Given the description of an element on the screen output the (x, y) to click on. 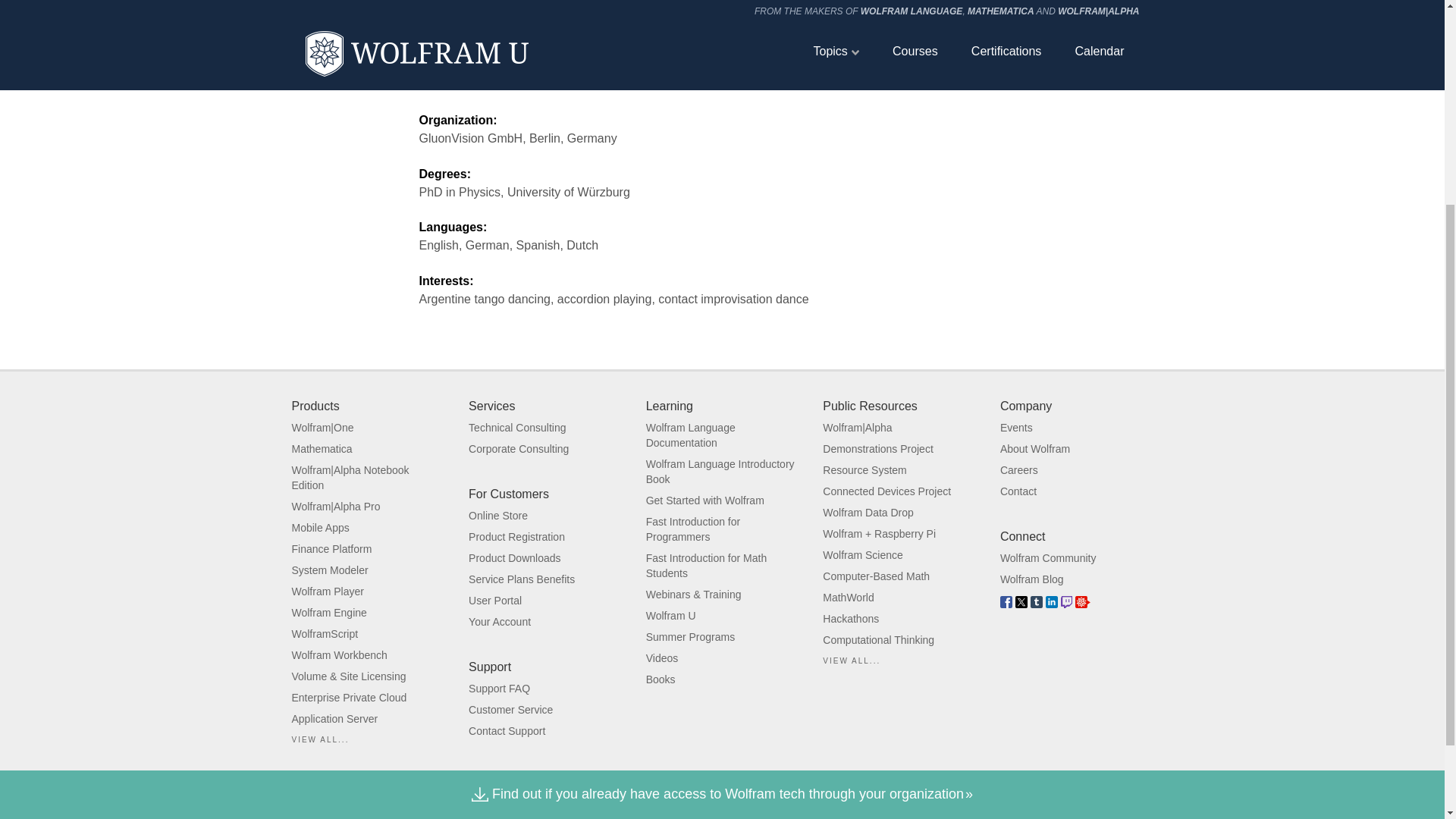
Enterprise Private Cloud (348, 697)
Mathematica (321, 449)
Application Server (334, 718)
System Modeler (329, 570)
Wolfram Workbench (339, 654)
Mobile Apps (320, 527)
Finance Platform (331, 548)
WolframScript (324, 633)
Wolfram Player (326, 591)
VIEW ALL... (320, 739)
Wolfram Engine (328, 612)
